Given the description of an element on the screen output the (x, y) to click on. 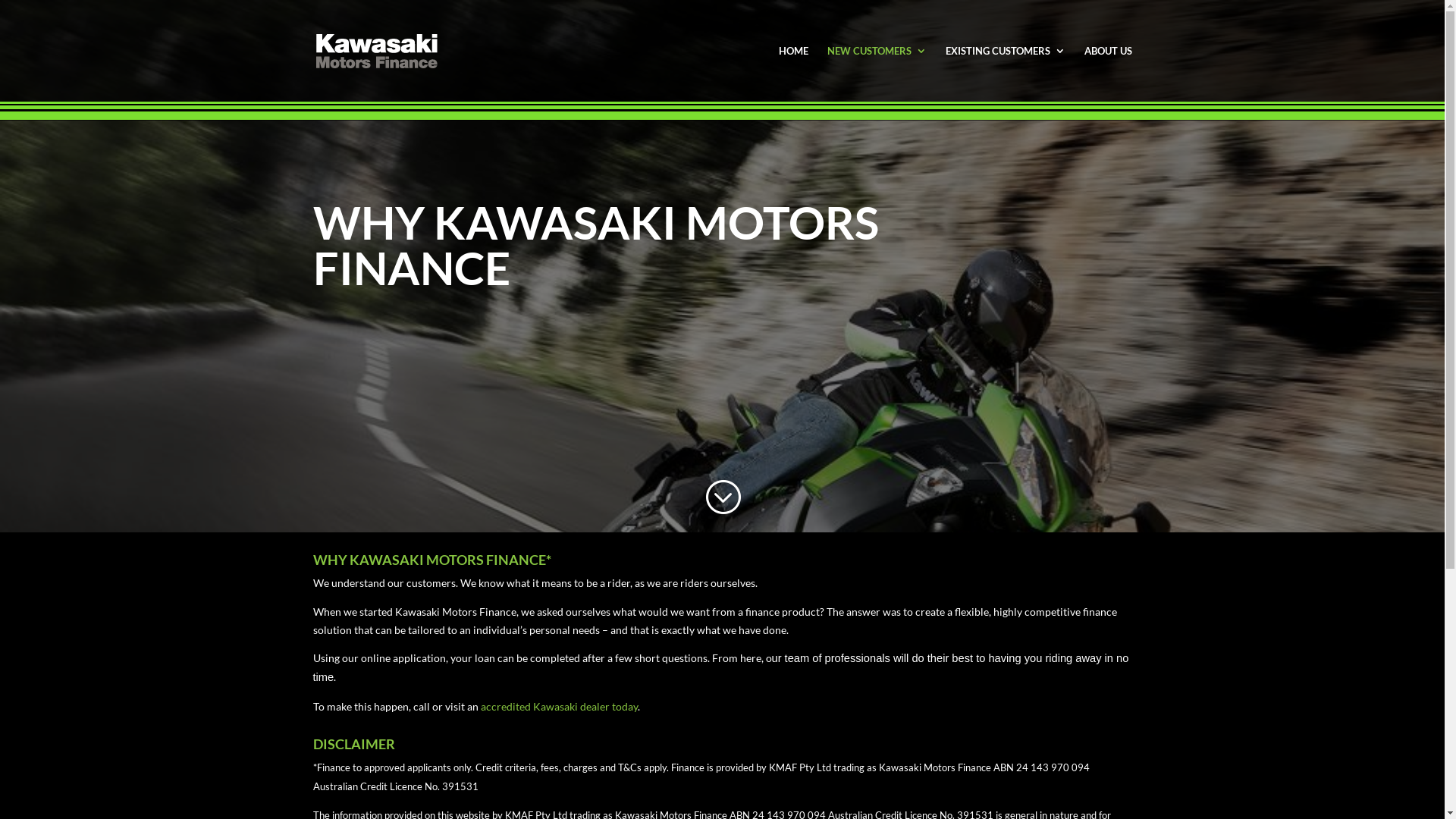
HOME Element type: text (792, 73)
; Element type: text (721, 496)
accredited Kawasaki dealer today Element type: text (558, 705)
EXISTING CUSTOMERS Element type: text (1004, 73)
ABOUT US Element type: text (1108, 73)
NEW CUSTOMERS Element type: text (875, 73)
